Given the description of an element on the screen output the (x, y) to click on. 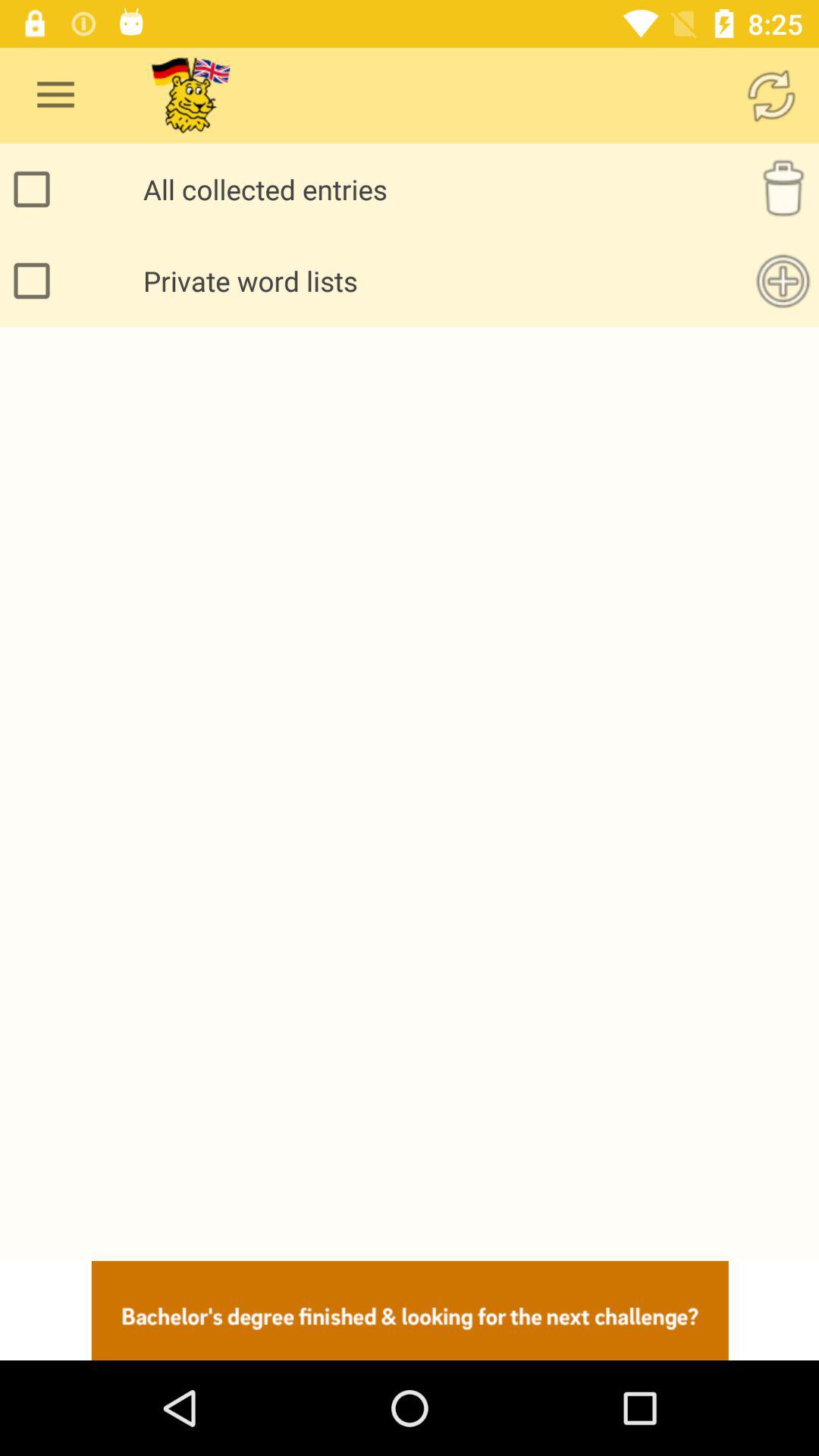
select this option (35, 280)
